Given the description of an element on the screen output the (x, y) to click on. 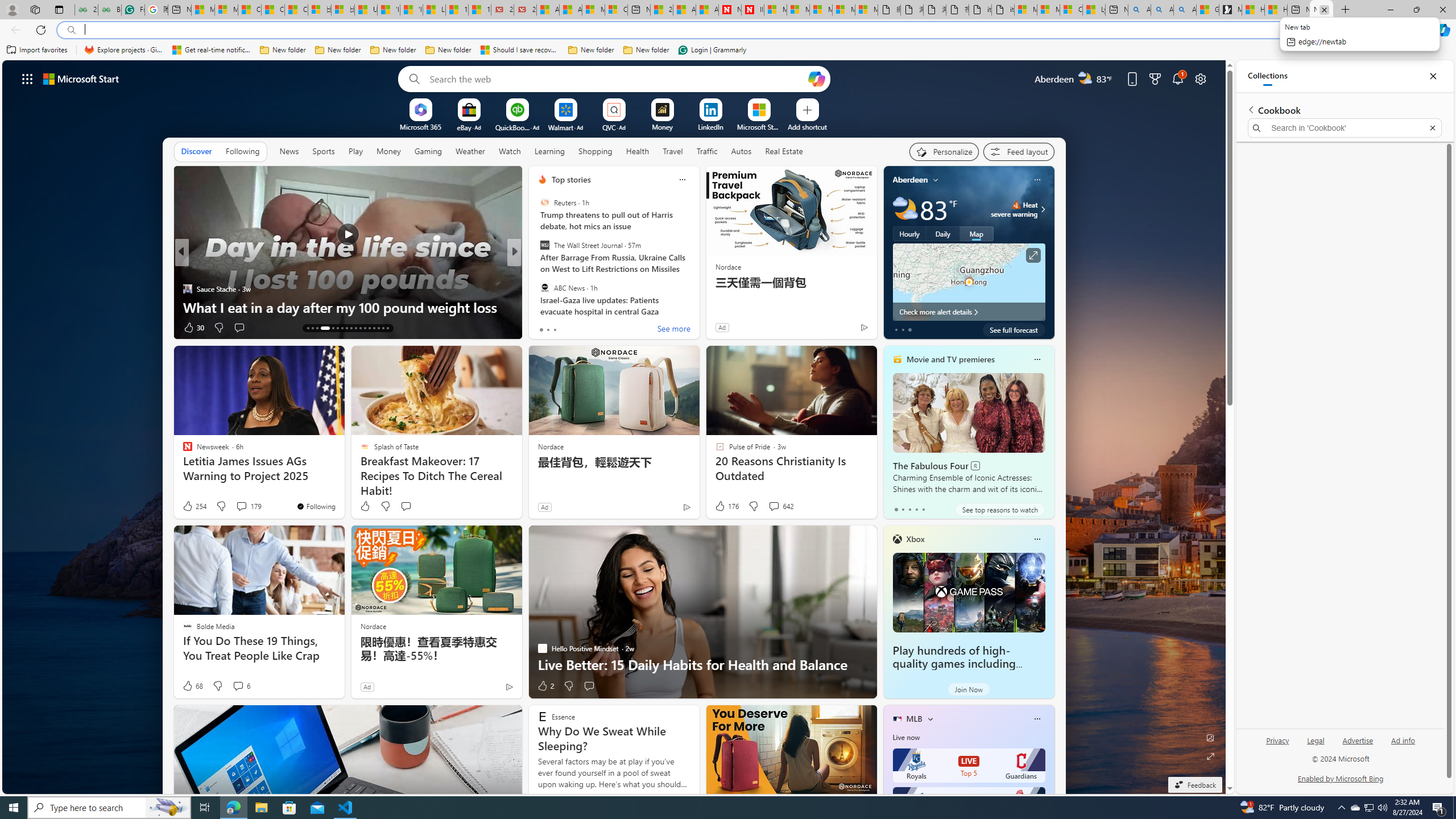
8 Like (541, 327)
Hourly (909, 233)
Play (355, 151)
Larger map  (968, 282)
Ad info (1402, 745)
Map (975, 233)
Partly cloudy (904, 208)
Shopping (595, 151)
View comments 140 Comment (595, 327)
Microsoft rewards (1155, 78)
